Given the description of an element on the screen output the (x, y) to click on. 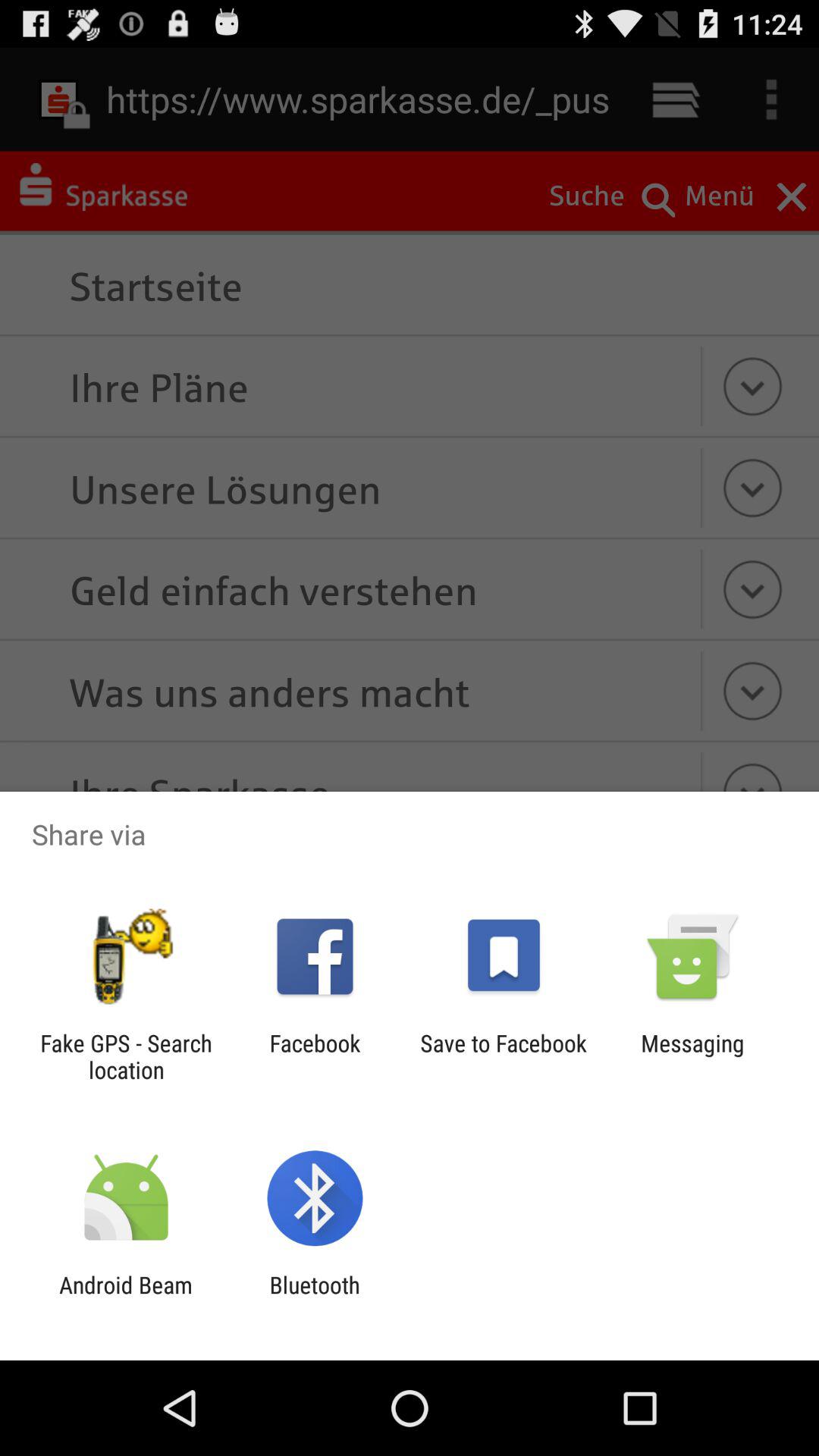
tap messaging icon (692, 1056)
